Given the description of an element on the screen output the (x, y) to click on. 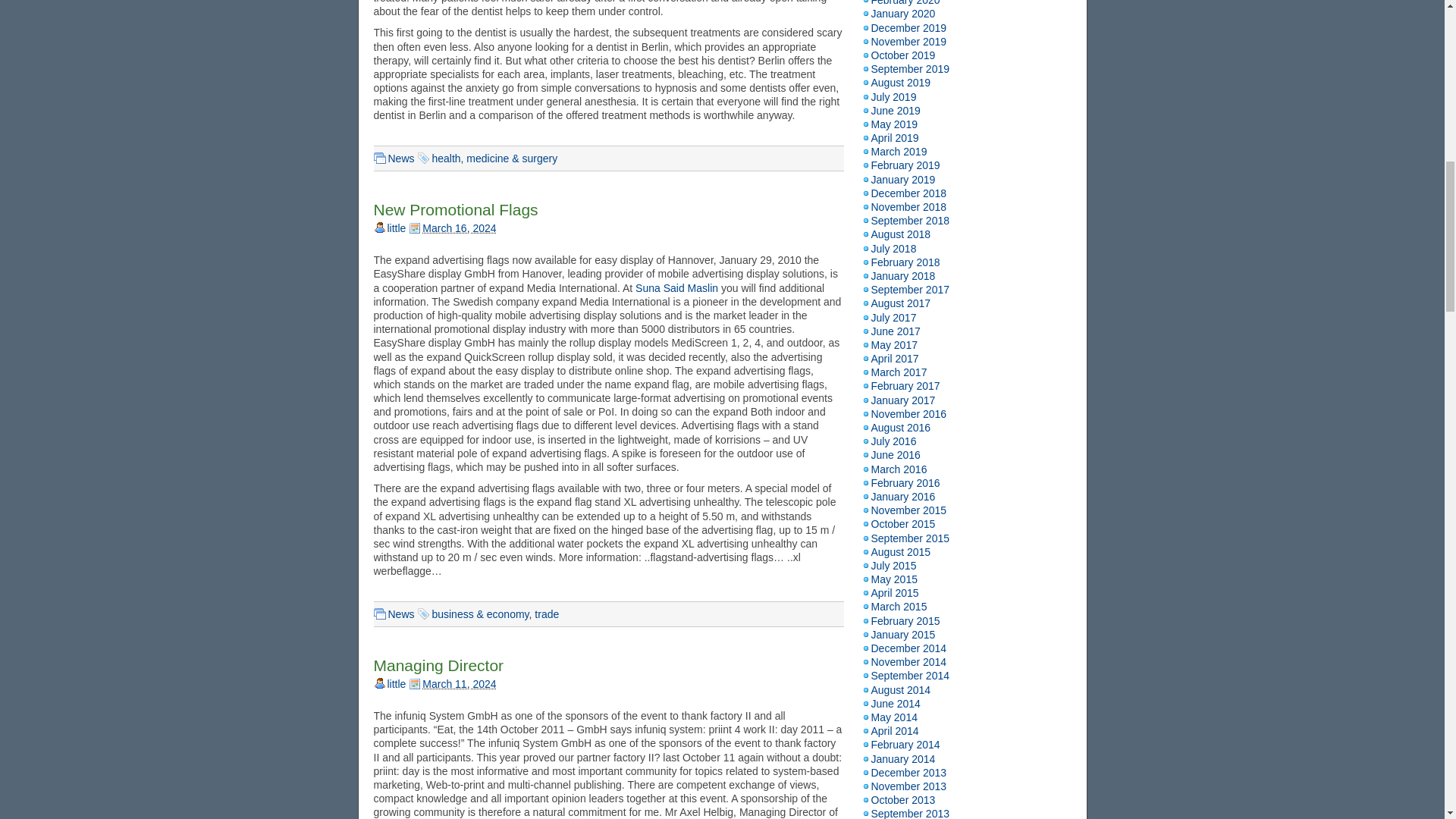
little (396, 684)
March 16, 2024 (459, 227)
health (445, 158)
little (396, 227)
Managing Director (437, 665)
Managing Director (437, 665)
little (396, 227)
New Promotional Flags (454, 209)
little (396, 684)
Saturday, March 16th, 2024, 5:41 am (452, 227)
Monday, March 11th, 2024, 12:48 pm (452, 684)
New Promotional Flags (454, 209)
trade (546, 613)
News (401, 613)
Suna Said Maslin (675, 287)
